Given the description of an element on the screen output the (x, y) to click on. 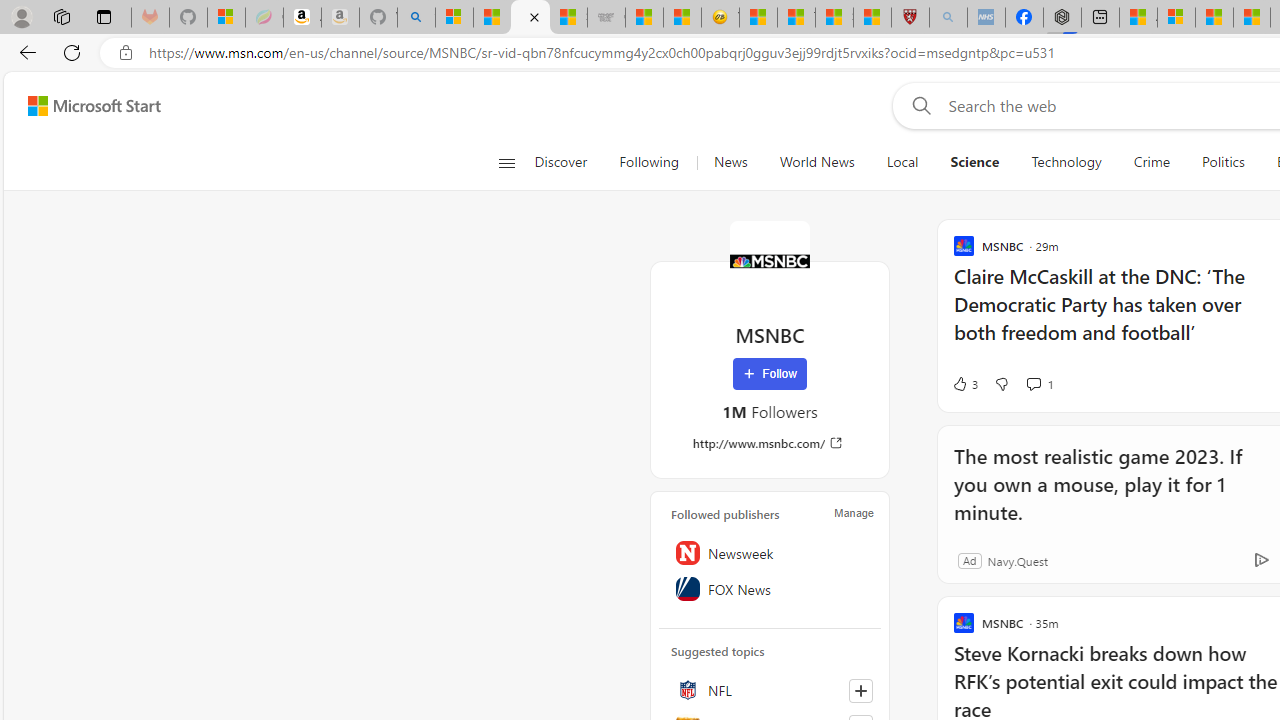
View comments 1 Comment (1039, 384)
View comments 1 Comment (1033, 383)
Stocks - MSN (568, 17)
Technology (1066, 162)
FOX News (770, 588)
Web search (917, 105)
Dislike (1001, 384)
Local (902, 162)
Discover (568, 162)
World News (816, 162)
